Given the description of an element on the screen output the (x, y) to click on. 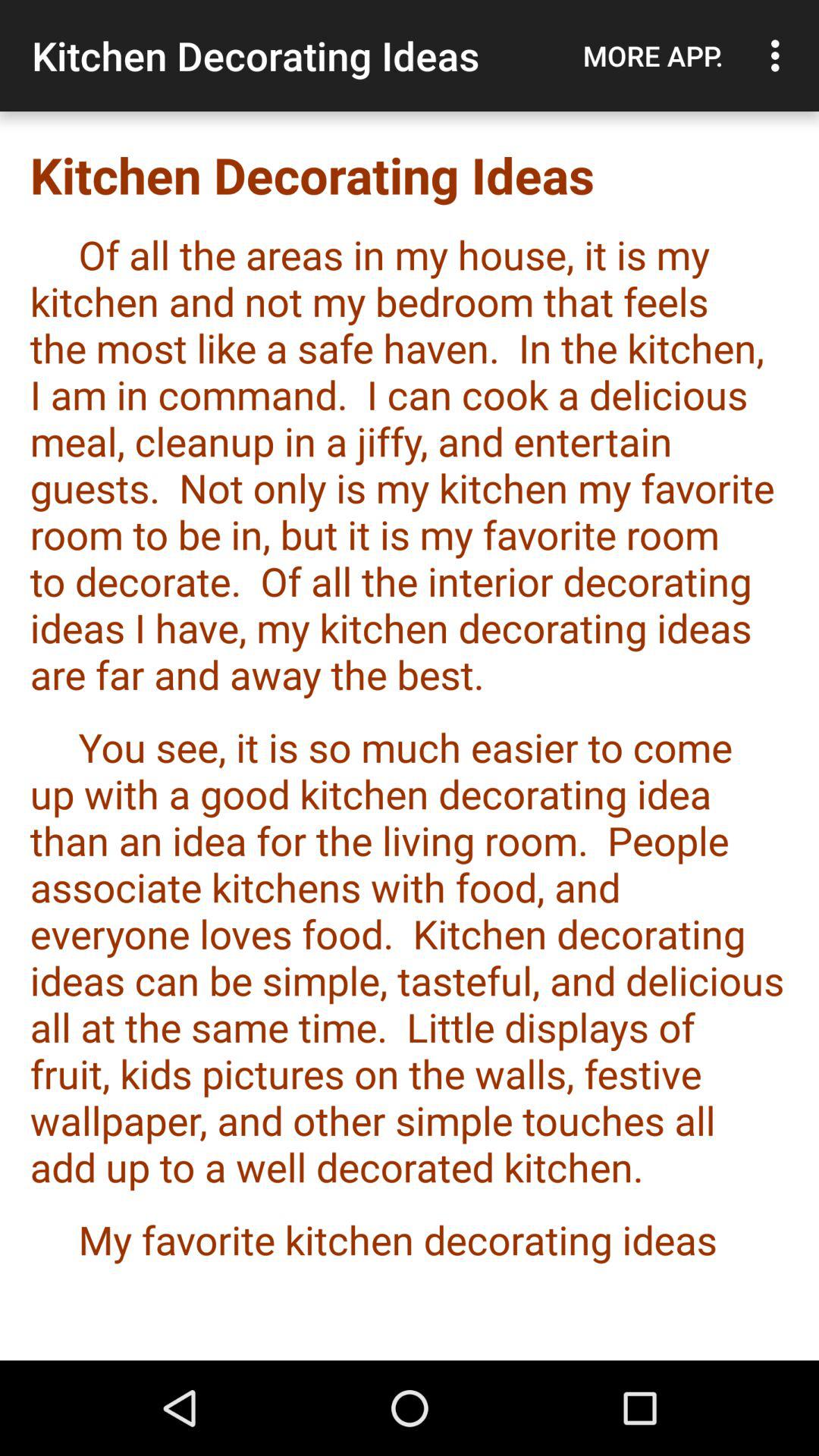
open icon to the right of more app. item (779, 55)
